Given the description of an element on the screen output the (x, y) to click on. 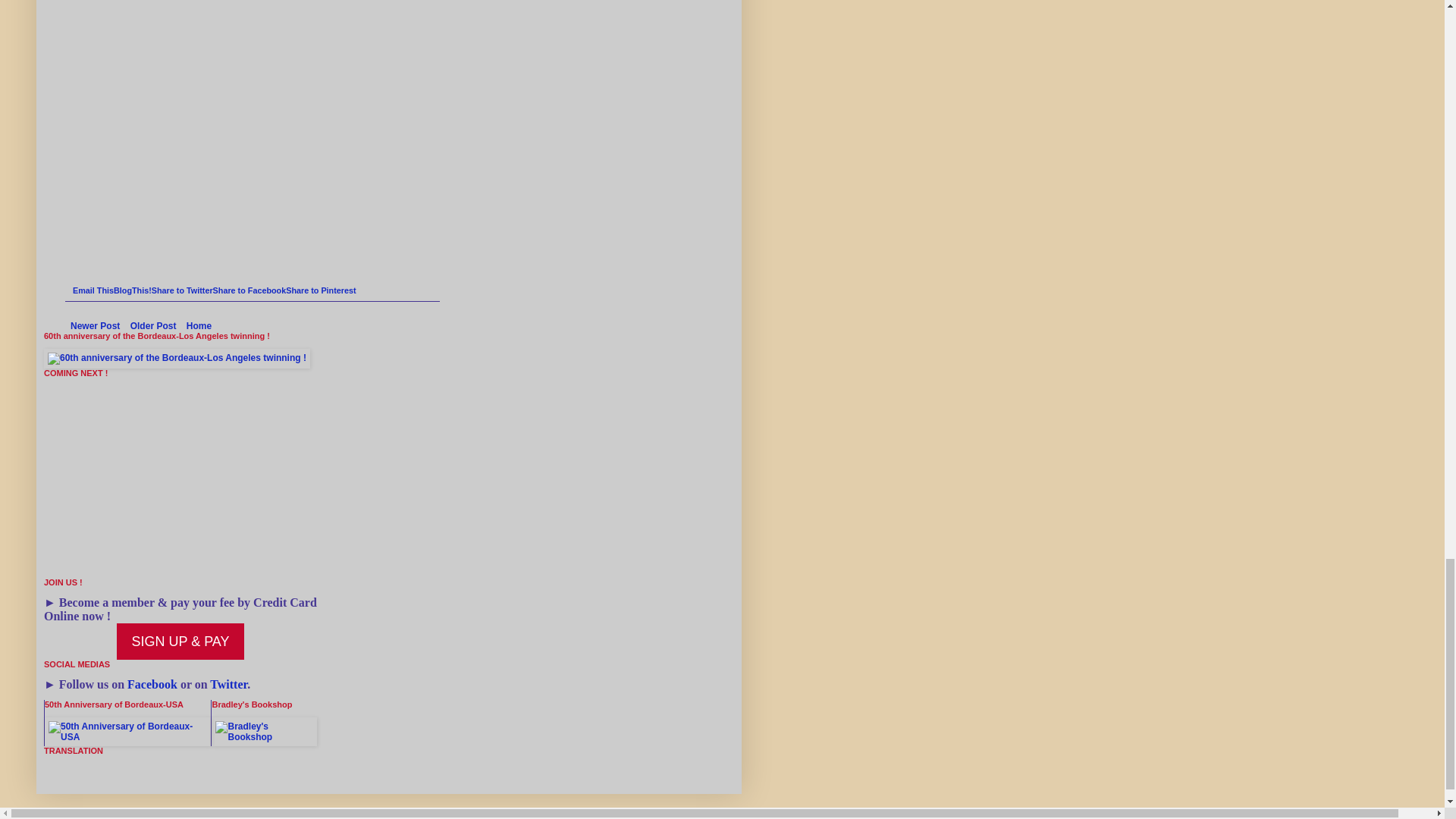
Share to Twitter (181, 289)
Email Post (78, 276)
Share to Twitter (181, 289)
BlogThis! (132, 289)
Older Post (153, 325)
Share to Pinterest (320, 289)
Newer Post (94, 325)
Share to Pinterest (320, 289)
Twitter (228, 684)
Facebook (152, 684)
Share to Facebook (249, 289)
Older Post (153, 325)
Email This (92, 289)
Share to Facebook (249, 289)
Home (199, 325)
